Given the description of an element on the screen output the (x, y) to click on. 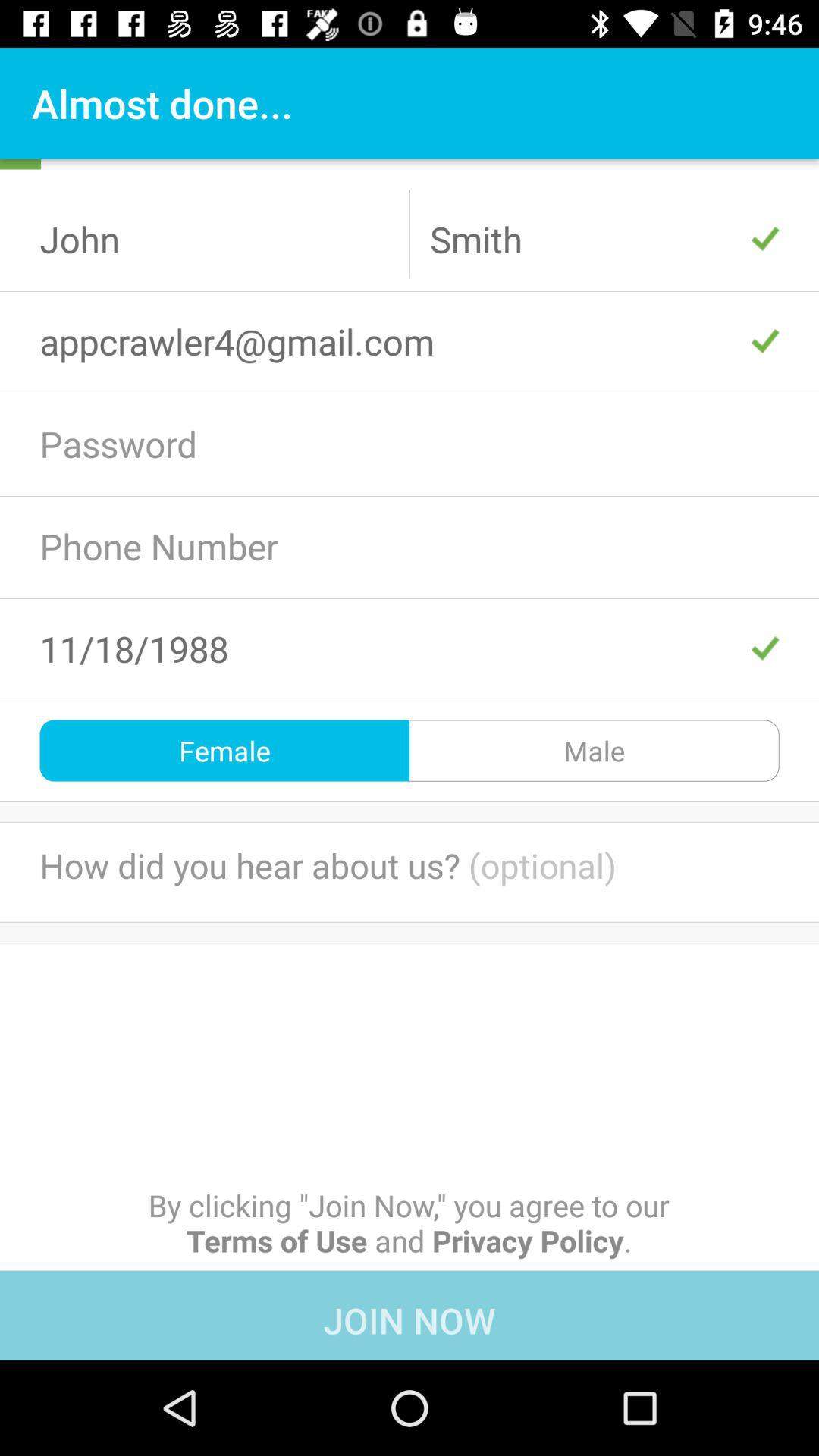
open smith item (604, 239)
